Given the description of an element on the screen output the (x, y) to click on. 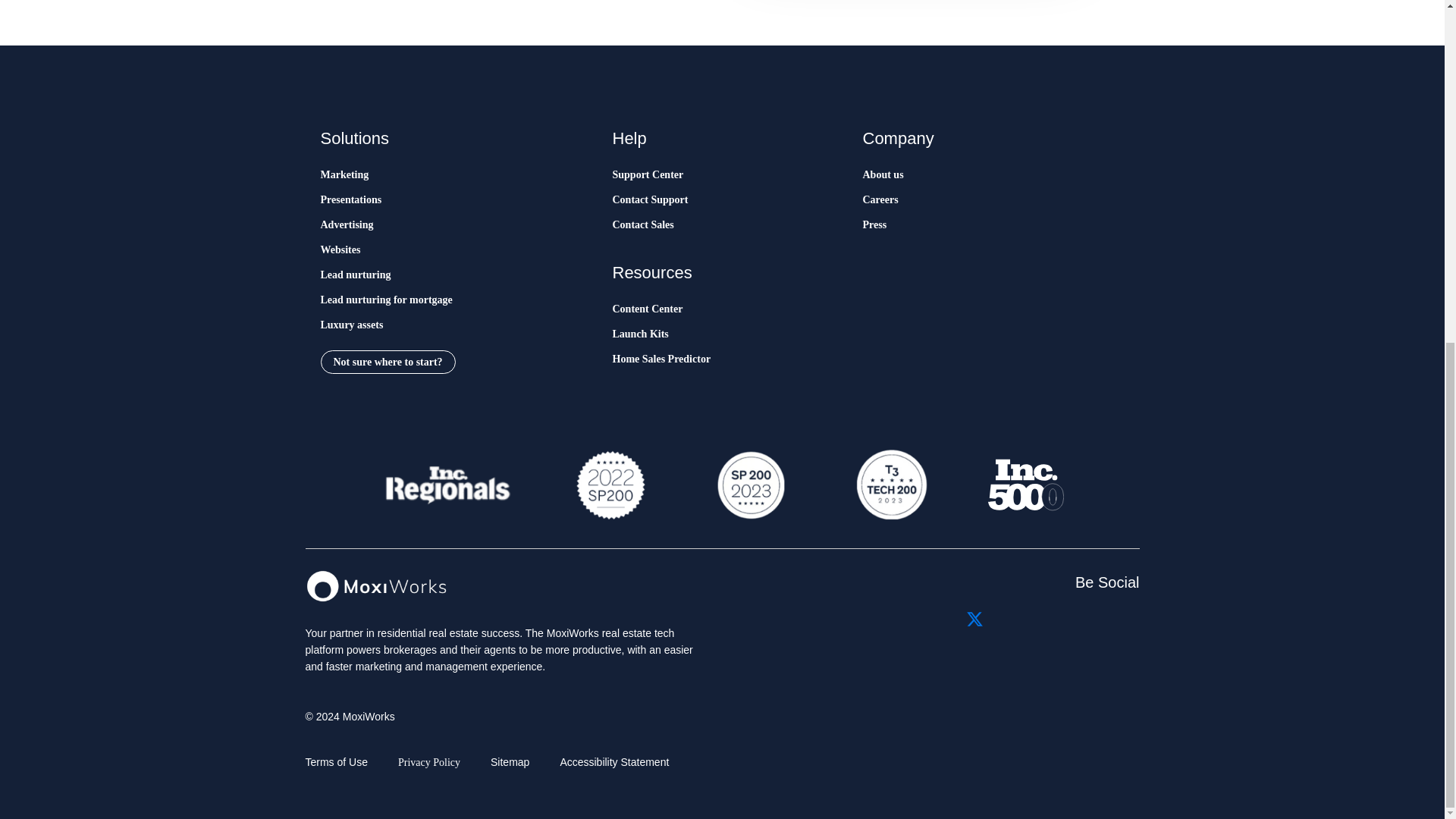
T3 tech 200 2023 (890, 484)
SP 2023 (749, 484)
SP 2022 (610, 484)
